Given the description of an element on the screen output the (x, y) to click on. 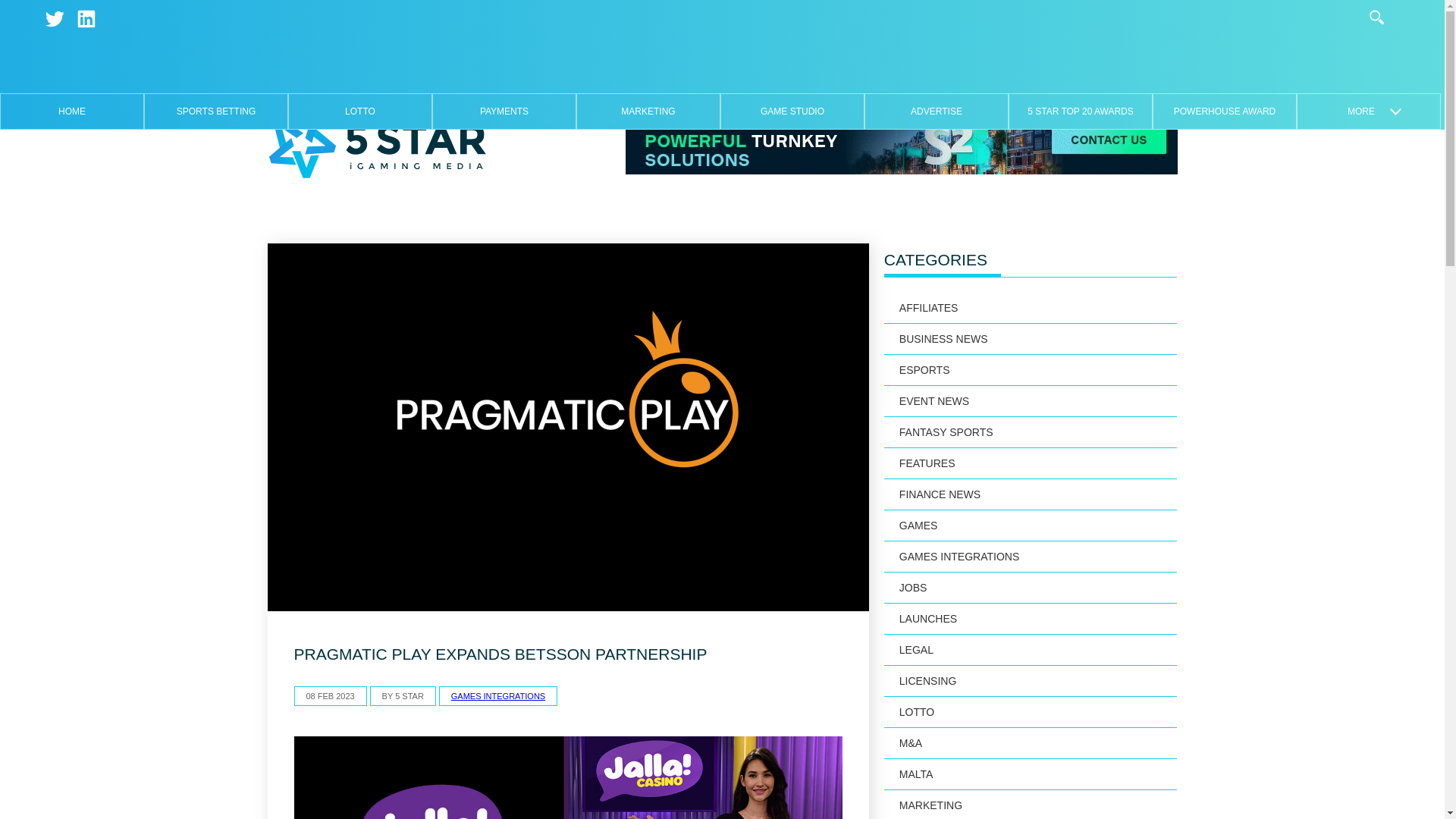
POWERHOUSE AWARD (1224, 111)
GAME STUDIO (791, 111)
AFFILIATES (1030, 307)
Twitter (54, 18)
LOTTO (359, 111)
FANTASY SPORTS (1030, 432)
ESPORTS (1030, 369)
EVENT NEWS (1030, 400)
LinkedIn (86, 18)
ADVERTISE (935, 111)
SPORTS BETTING (215, 111)
PAYMENTS (503, 111)
MARKETING (647, 111)
HOME (71, 111)
MORE       (1368, 111)
